Given the description of an element on the screen output the (x, y) to click on. 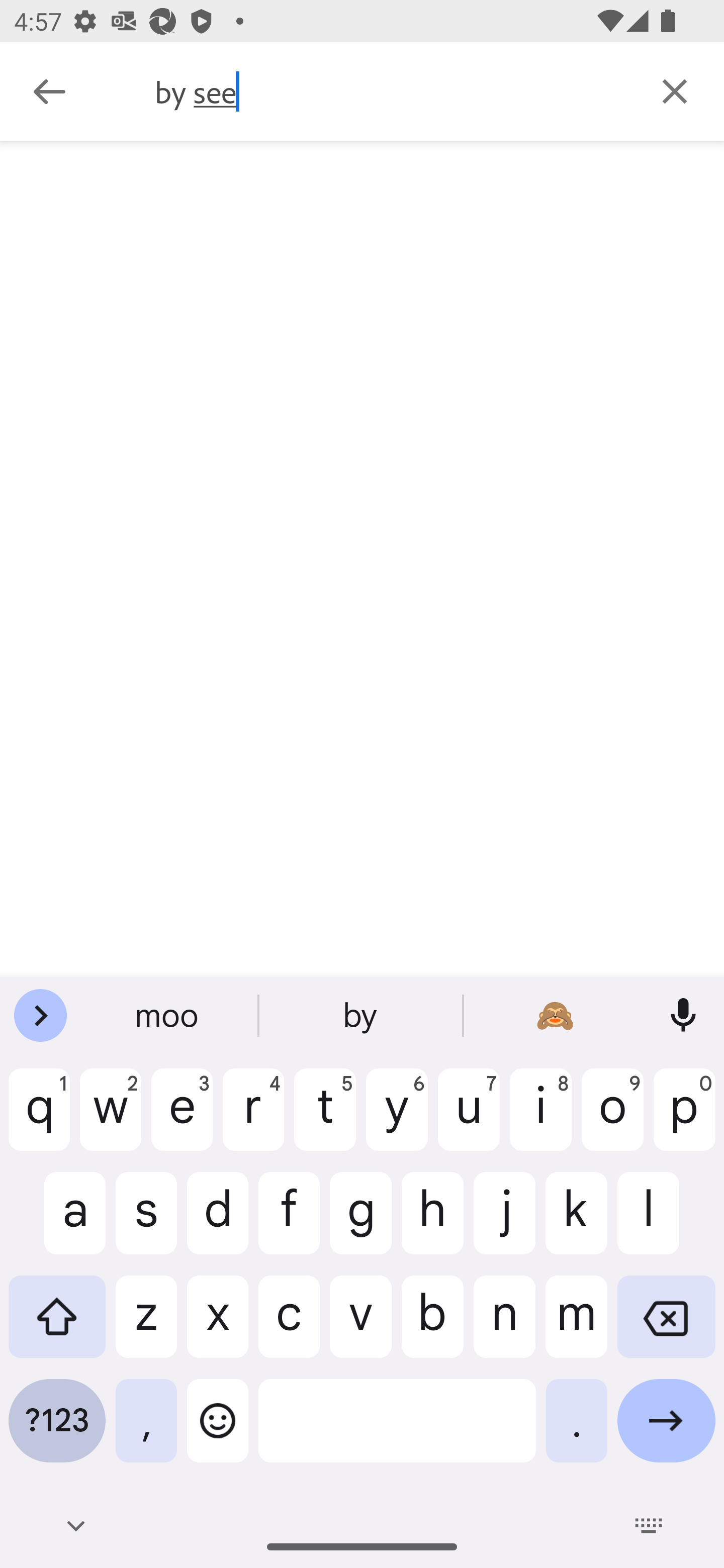
Navigate up (49, 91)
Clear query (674, 90)
by see (389, 91)
